Given the description of an element on the screen output the (x, y) to click on. 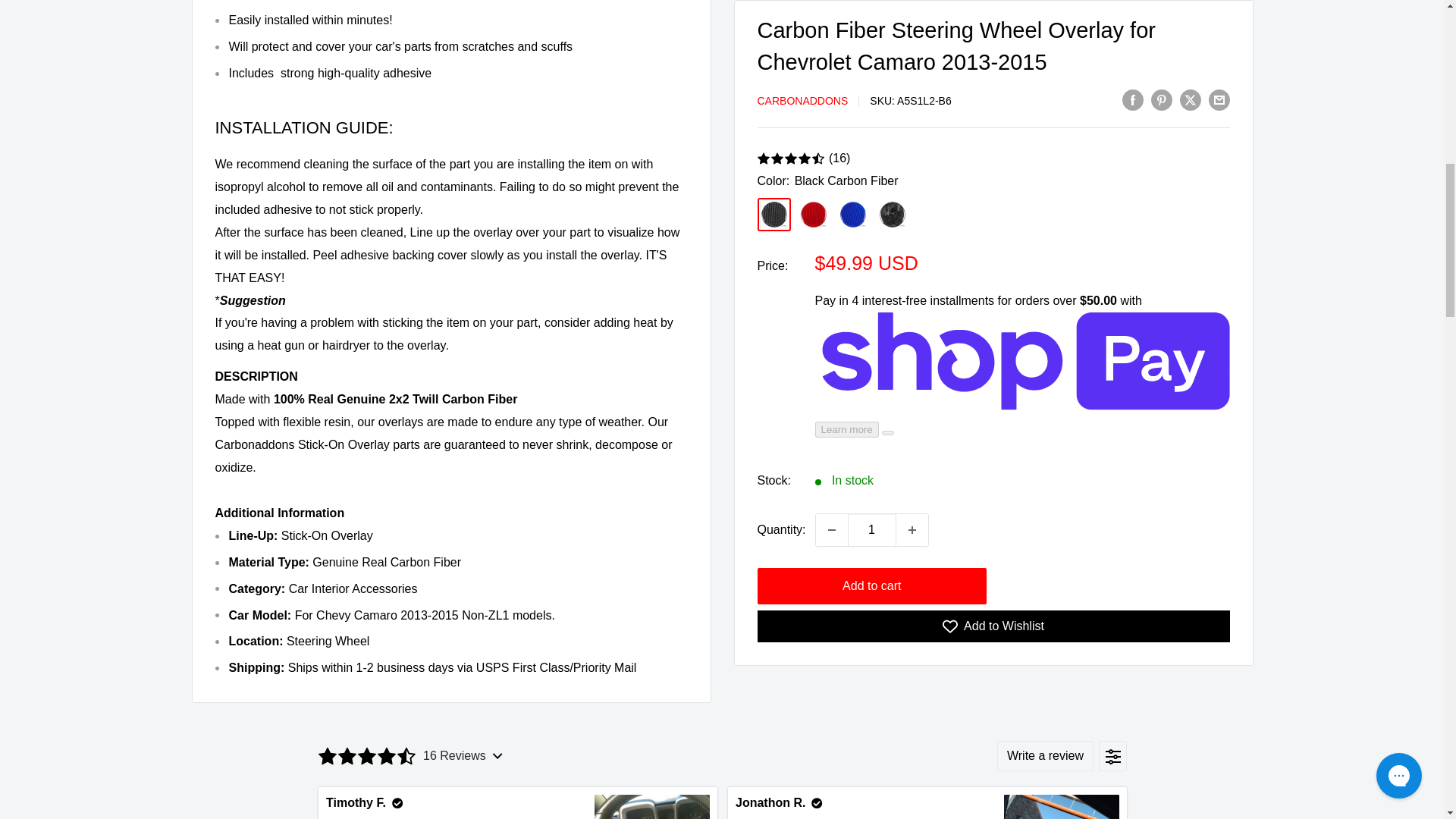
Product reviews widget (722, 772)
